Given the description of an element on the screen output the (x, y) to click on. 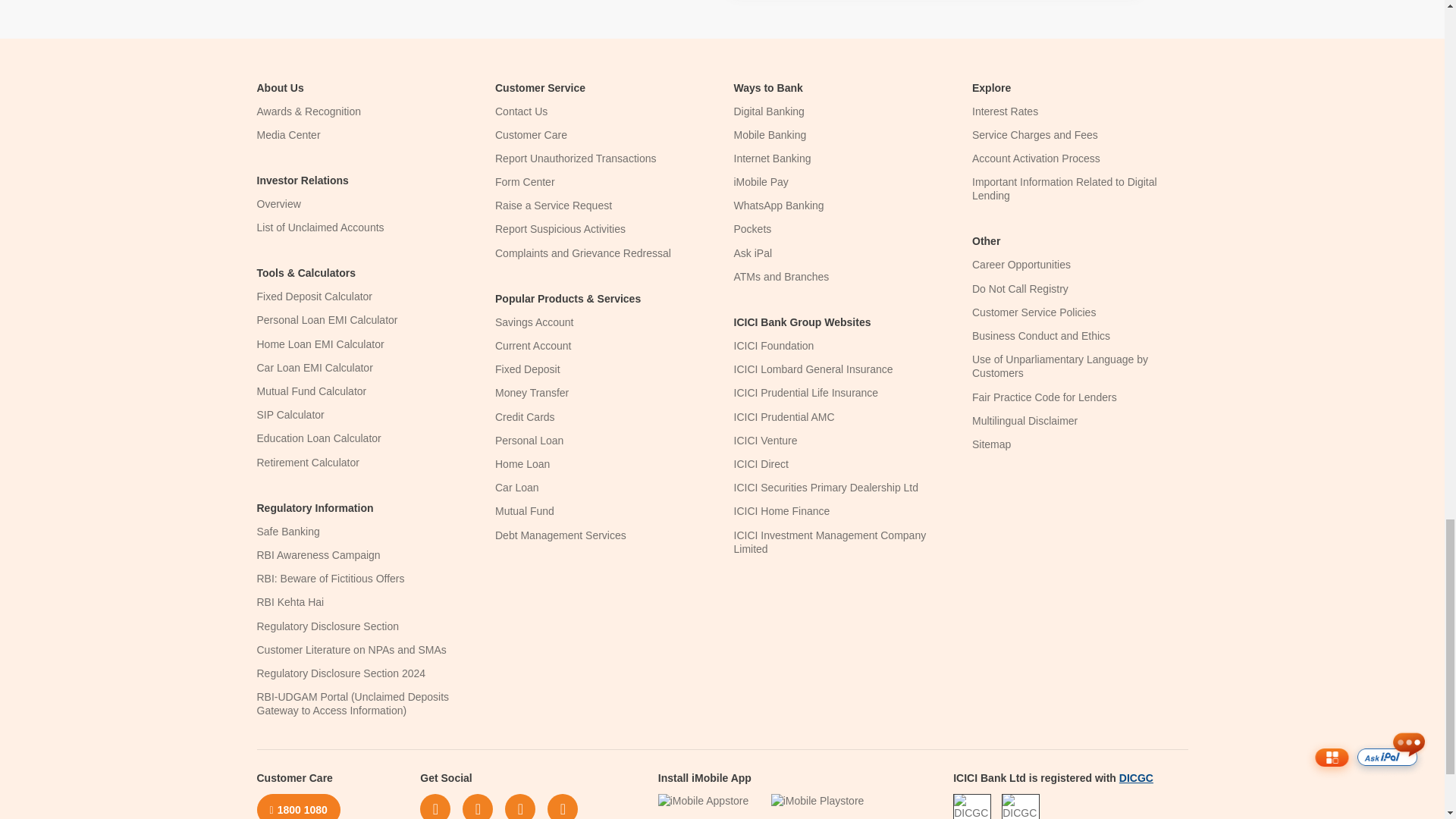
Car Loan EMI Calculator (314, 367)
Mutual Fund Calculator (311, 390)
SIP Calculator (289, 414)
Personal Loan EMI Calculator (326, 319)
Home Loan EMI Calculator (320, 344)
Fixed Deposit Calculator (314, 296)
Education Loan Calculator (318, 438)
Overview (277, 203)
Retirement Calculator (307, 462)
Media Center (288, 134)
